Given the description of an element on the screen output the (x, y) to click on. 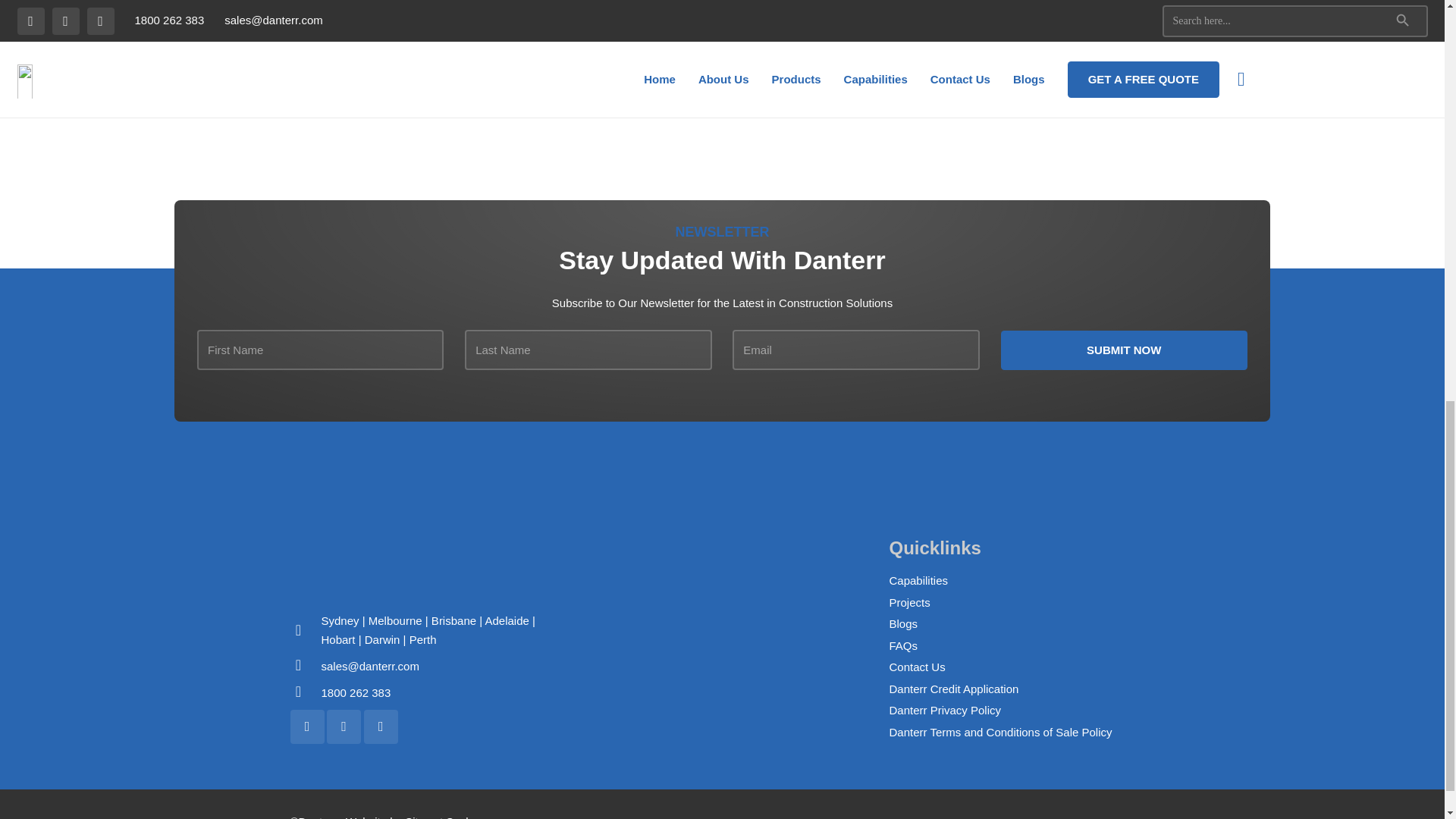
Facebook (306, 726)
YouTube (380, 726)
LinkedIn (343, 726)
Submit Now (1124, 350)
Back to top (1413, 26)
